Given the description of an element on the screen output the (x, y) to click on. 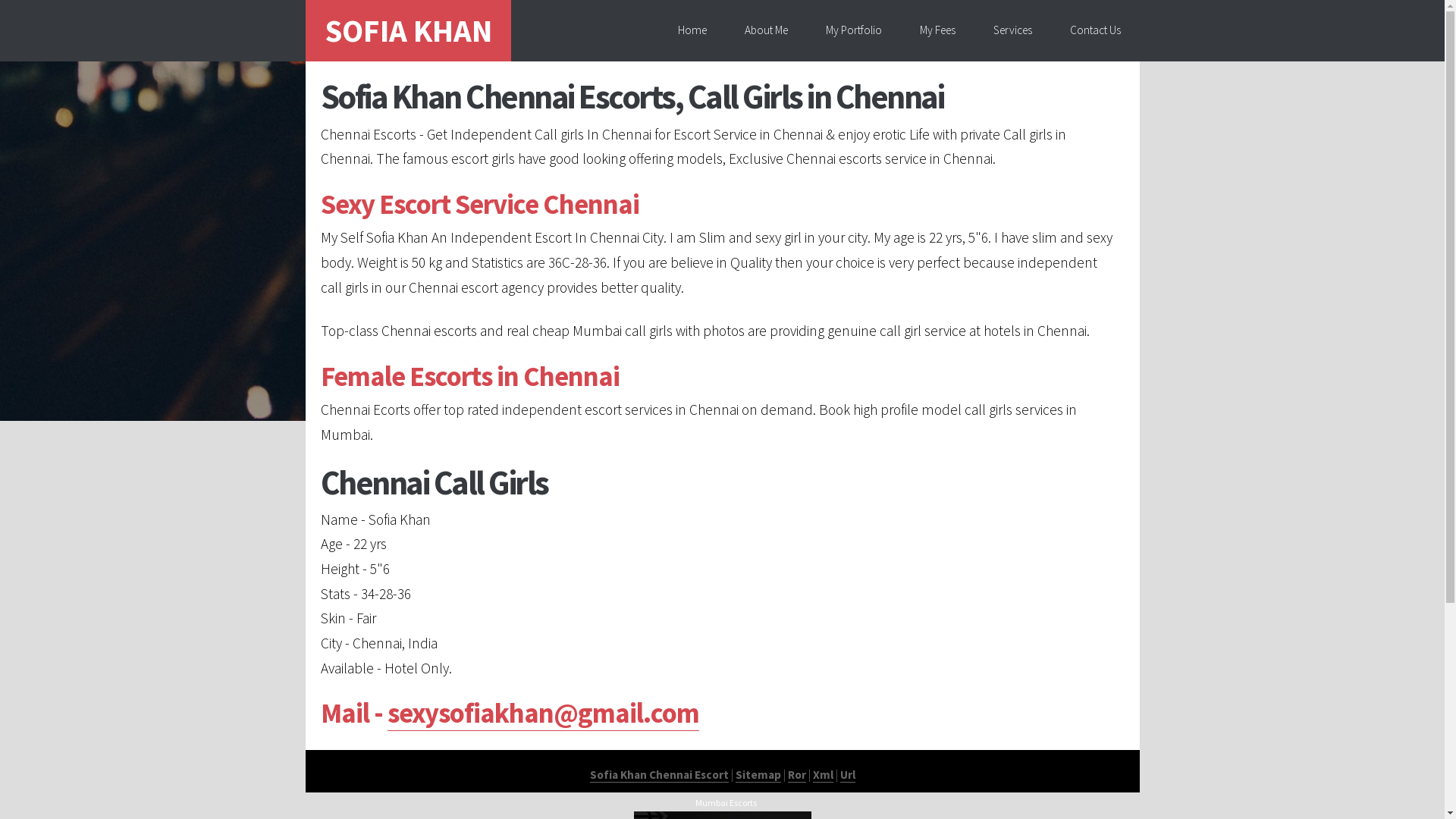
Sofia Khan Chennai Escort Element type: text (658, 774)
SOFIA KHAN Element type: text (407, 30)
sexysofiakhan@gmail.com Element type: text (542, 713)
Services Element type: text (1011, 29)
About Me Element type: text (765, 29)
Home Element type: text (691, 29)
Ror Element type: text (796, 774)
My Portfolio Element type: text (853, 29)
Xml Element type: text (822, 774)
Url Element type: text (847, 774)
Contact Us Element type: text (1095, 29)
Sitemap Element type: text (758, 774)
My Fees Element type: text (937, 29)
